Given the description of an element on the screen output the (x, y) to click on. 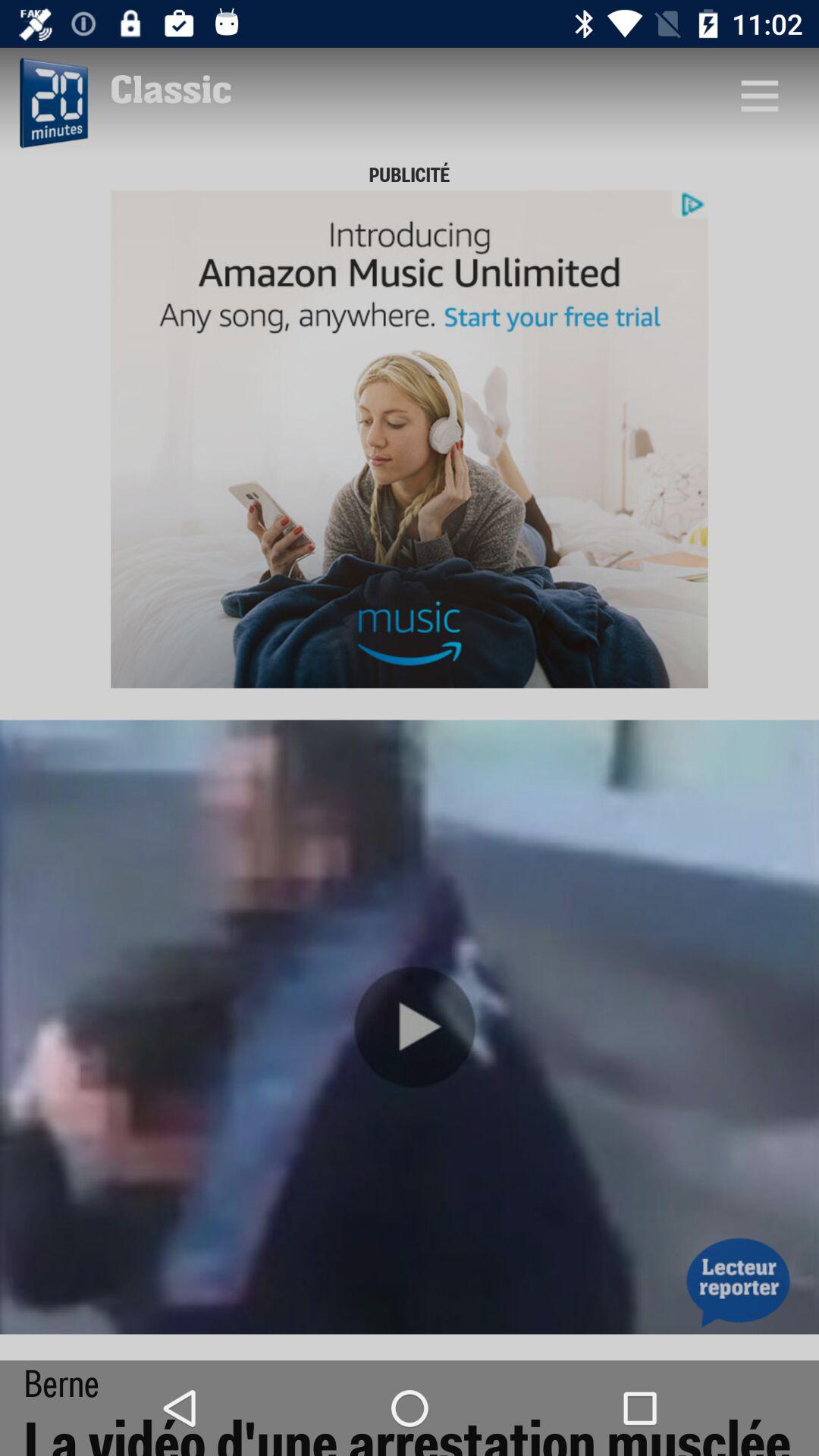
more option (759, 95)
